Given the description of an element on the screen output the (x, y) to click on. 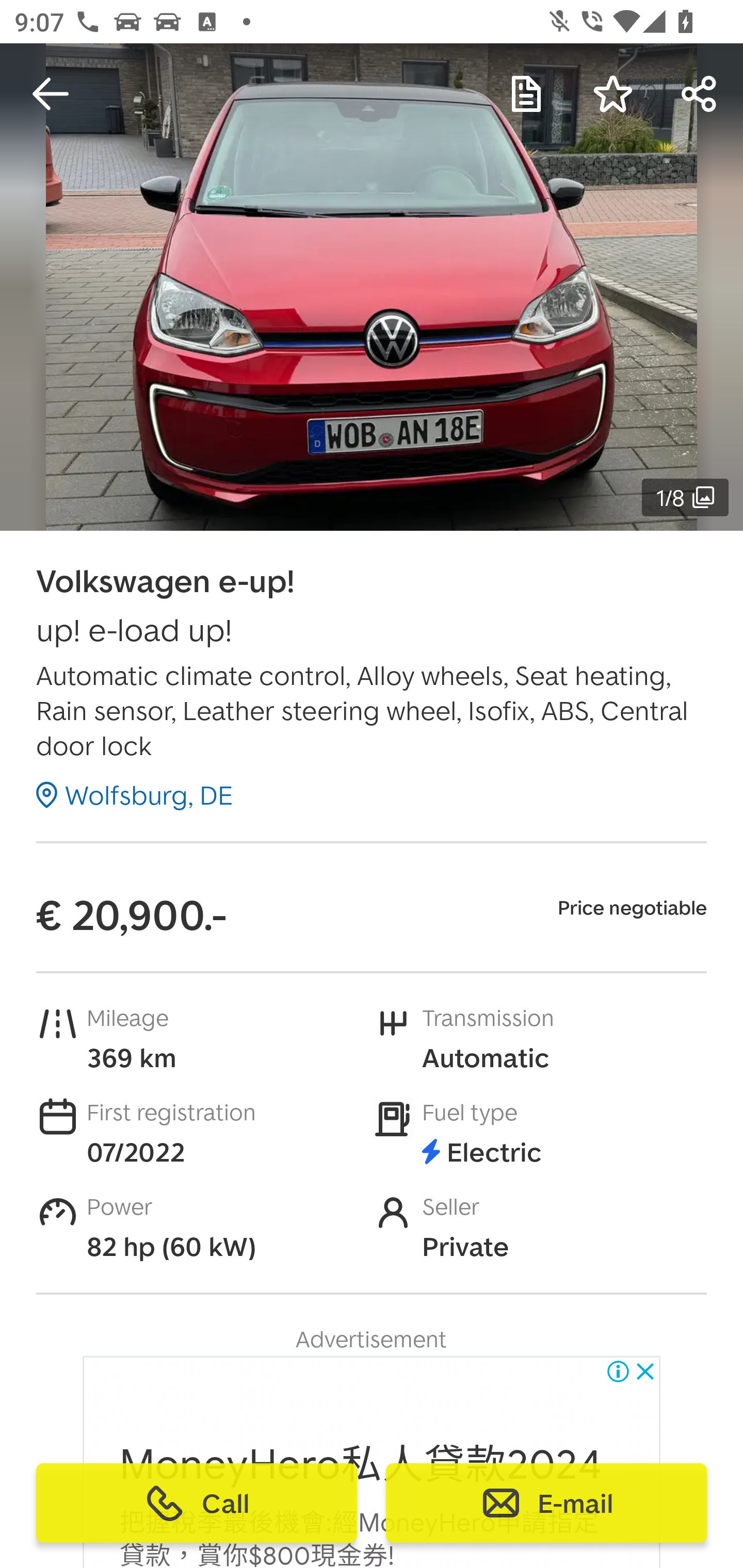
Navigate up (50, 93)
My Notes (525, 93)
Save (612, 93)
Forward (699, 93)
Wolfsburg, DE (134, 794)
Price negotiable (631, 906)
Call (196, 1502)
E-mail (545, 1502)
